Given the description of an element on the screen output the (x, y) to click on. 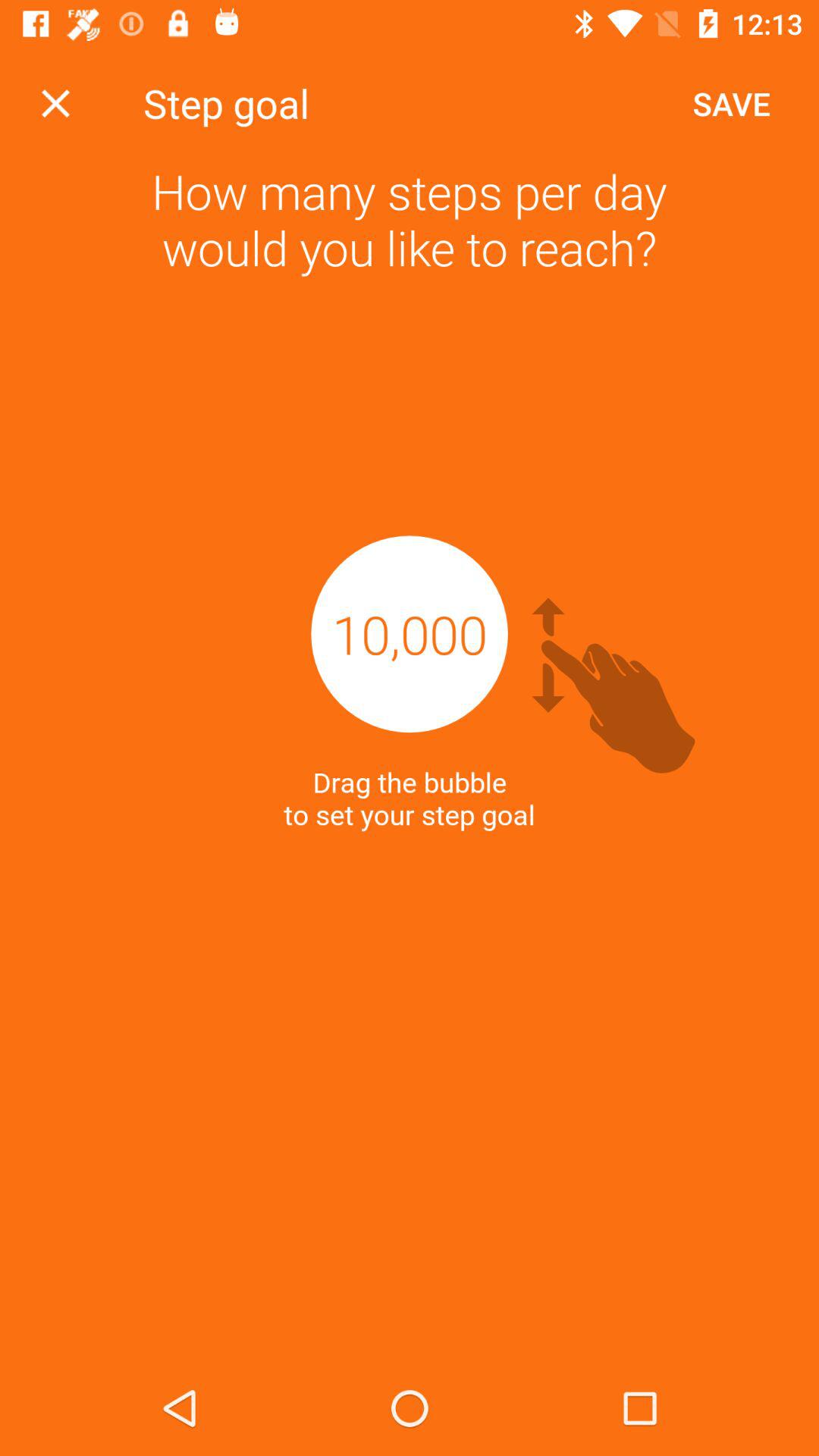
launch the icon to the right of step goal (731, 103)
